Given the description of an element on the screen output the (x, y) to click on. 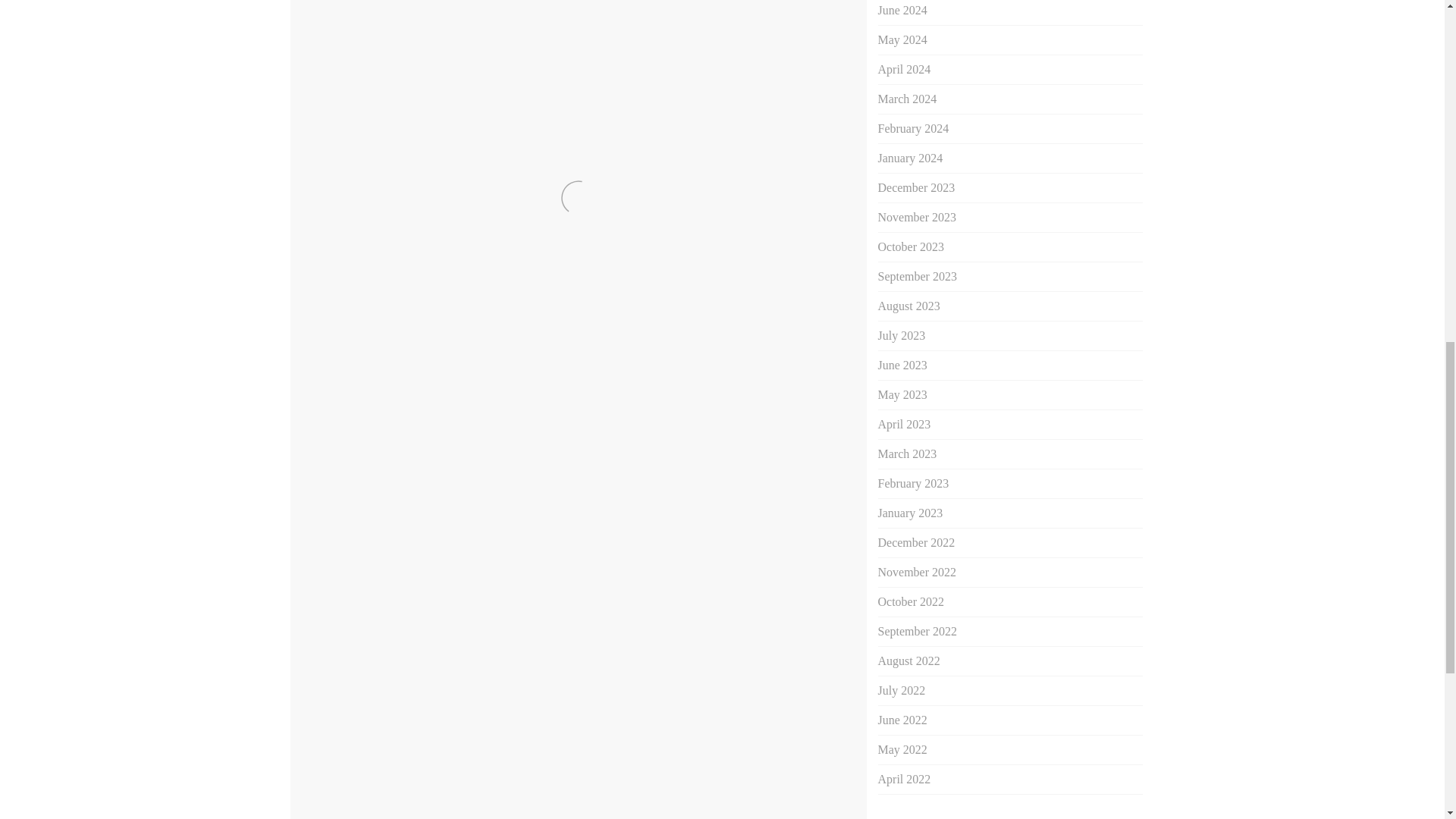
January 2023 (910, 512)
January 2024 (910, 157)
December 2023 (916, 187)
May 2023 (902, 394)
March 2023 (907, 453)
May 2024 (902, 39)
November 2022 (916, 571)
October 2022 (910, 601)
September 2023 (916, 276)
June 2023 (902, 364)
